Given the description of an element on the screen output the (x, y) to click on. 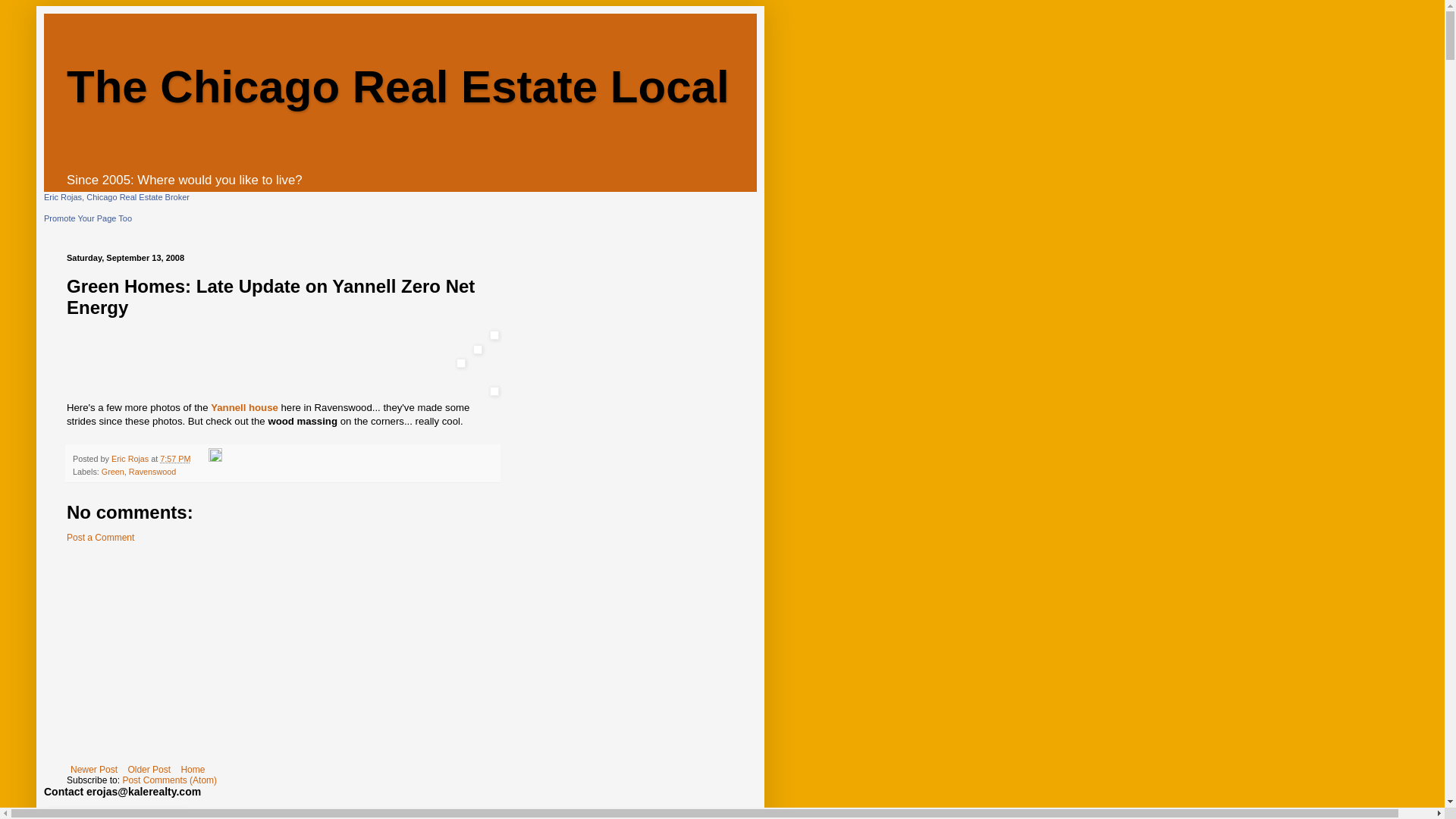
permanent link (175, 458)
Post a Comment (99, 537)
Make your own badge! (87, 217)
The Chicago Real Estate Local (397, 86)
Yannell house (246, 407)
Home (192, 769)
Green (112, 470)
Eric Rojas (131, 458)
Newer Post (93, 769)
Newer Post (93, 769)
Older Post (148, 769)
Ravenswood (152, 470)
Email Post (200, 458)
7:57 PM (175, 458)
Advertisement (282, 658)
